Given the description of an element on the screen output the (x, y) to click on. 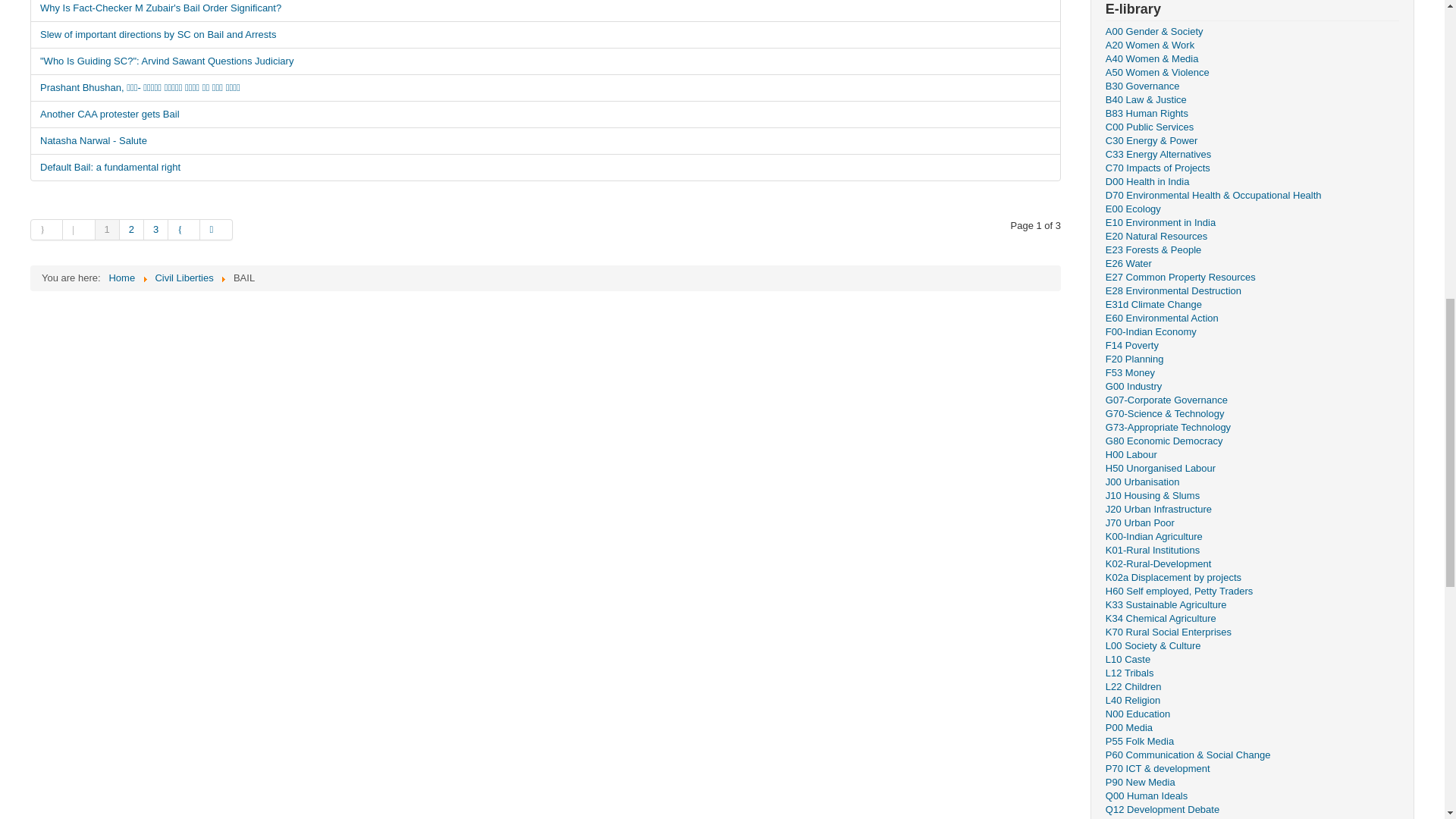
2 (131, 229)
Next (184, 229)
Natasha Narwal - Salute (545, 140)
Default Bail: a fundamental right (545, 166)
Slew of important directions by SC on Bail and Arrests (545, 34)
3 (156, 229)
End (215, 229)
Home (121, 277)
Civil Liberties (183, 277)
Why Is Fact-Checker M Zubair's Bail Order Significant? (545, 11)
